Given the description of an element on the screen output the (x, y) to click on. 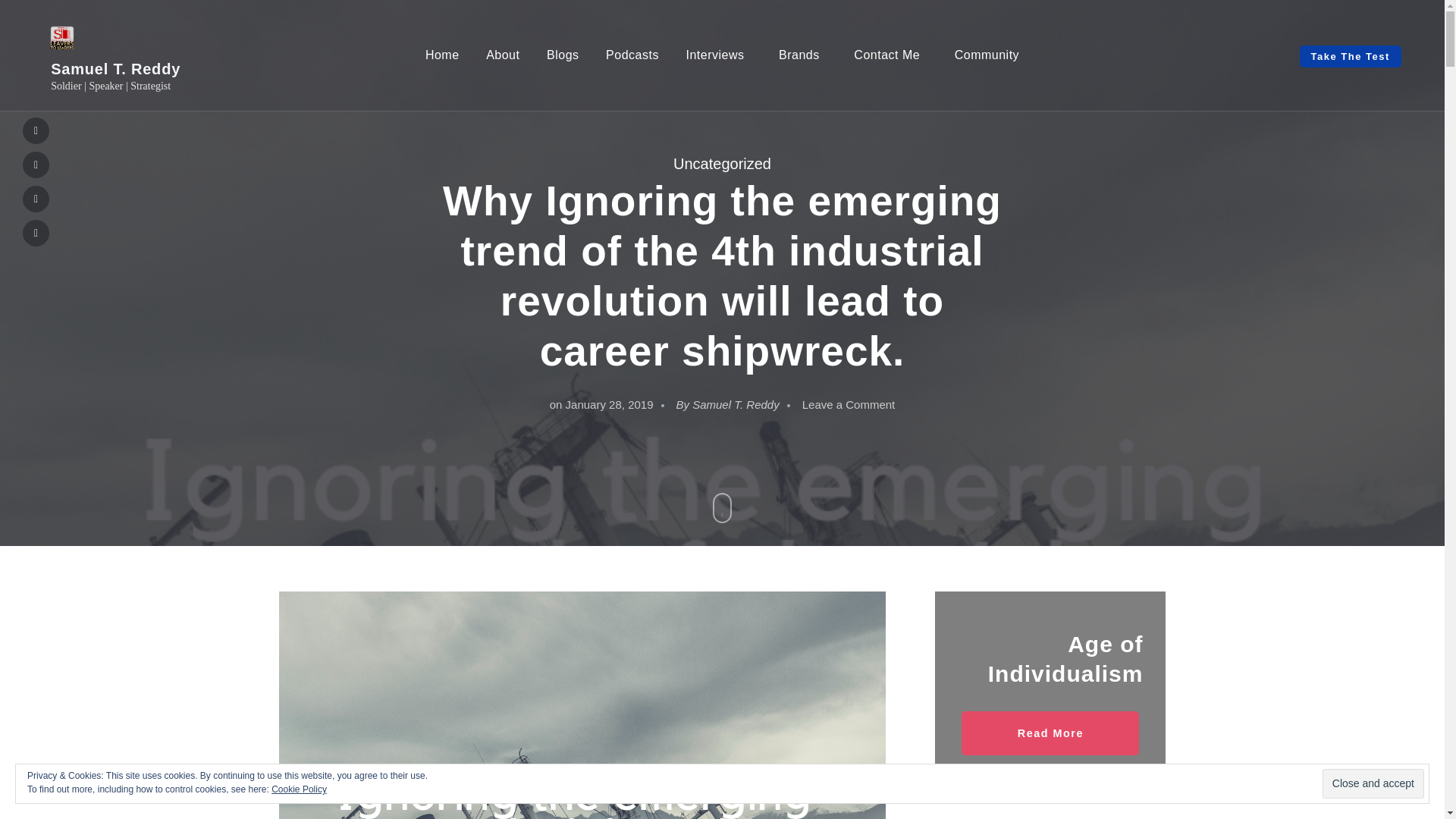
Samuel T. Reddy (735, 404)
Take The Test (1350, 56)
Interviews (718, 55)
Contact Me (891, 55)
Community (986, 55)
on January 28, 2019 (601, 404)
Samuel T. Reddy (115, 68)
Uncategorized (721, 163)
Close and accept (1372, 783)
